Given the description of an element on the screen output the (x, y) to click on. 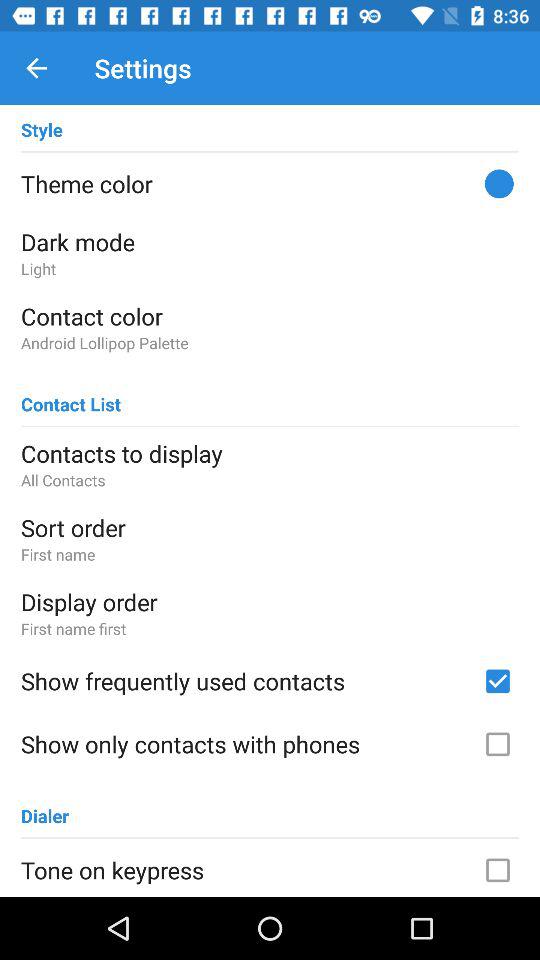
flip to the theme color item (270, 183)
